Given the description of an element on the screen output the (x, y) to click on. 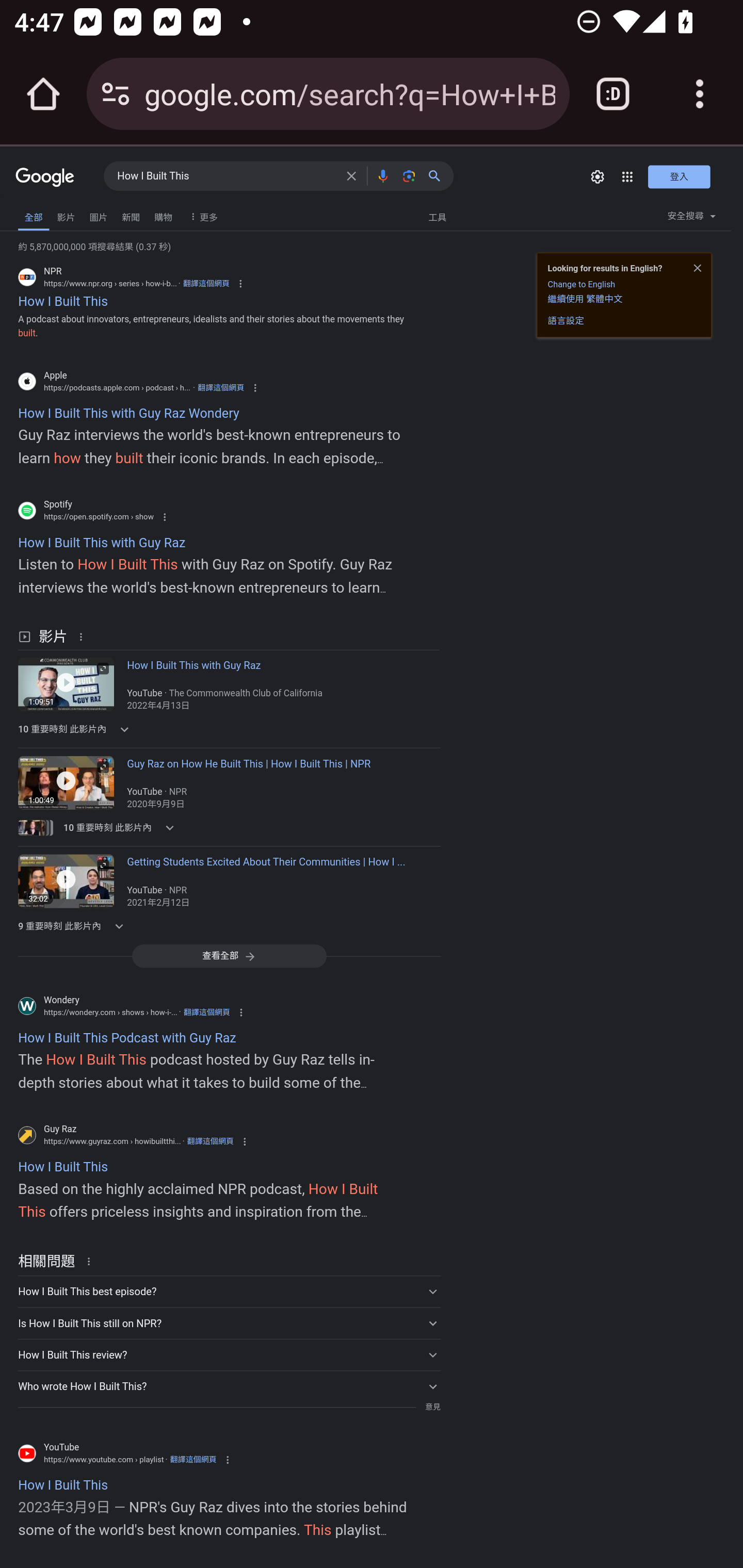
Open the home page (43, 93)
Connection is secure (115, 93)
Switch or close tabs (612, 93)
Customize and control Google Chrome (699, 93)
 清除 (351, 175)
語音搜尋 (382, 175)
以圖搜尋 (408, 175)
搜尋  (438, 175)
設定 (597, 176)
Google 應用程式 (626, 176)
登入 (678, 176)
Google (45, 178)
How I Built This (225, 176)
無障礙功能意見 (41, 212)
影片 (65, 215)
圖片 (98, 215)
新聞 (131, 215)
購物 (163, 215)
更多 (201, 215)
安全搜尋 (691, 218)
工具 (437, 215)
翻譯這個網頁 (205, 283)
Change to English (581, 283)
繼續使用 繁體中文 繼續使用  繁體中文 (584, 299)
語言設定 (565, 320)
翻譯這個網頁 (220, 387)
關於此結果 (83, 635)
10 重要時刻  此影片內 (121, 728)
10 重要時刻  此影片內 (121, 826)
9 重要時刻  此影片內 (121, 925)
查看全部 (229, 955)
翻譯這個網頁 (206, 1011)
翻譯這個網頁 (210, 1141)
關於此結果 (92, 1260)
How I Built This best episode? (228, 1290)
Is How I Built This still on NPR? (228, 1323)
How I Built This review? (228, 1354)
Who wrote How I Built This? (228, 1385)
意見 (432, 1406)
翻譯這個網頁 (192, 1459)
